Given the description of an element on the screen output the (x, y) to click on. 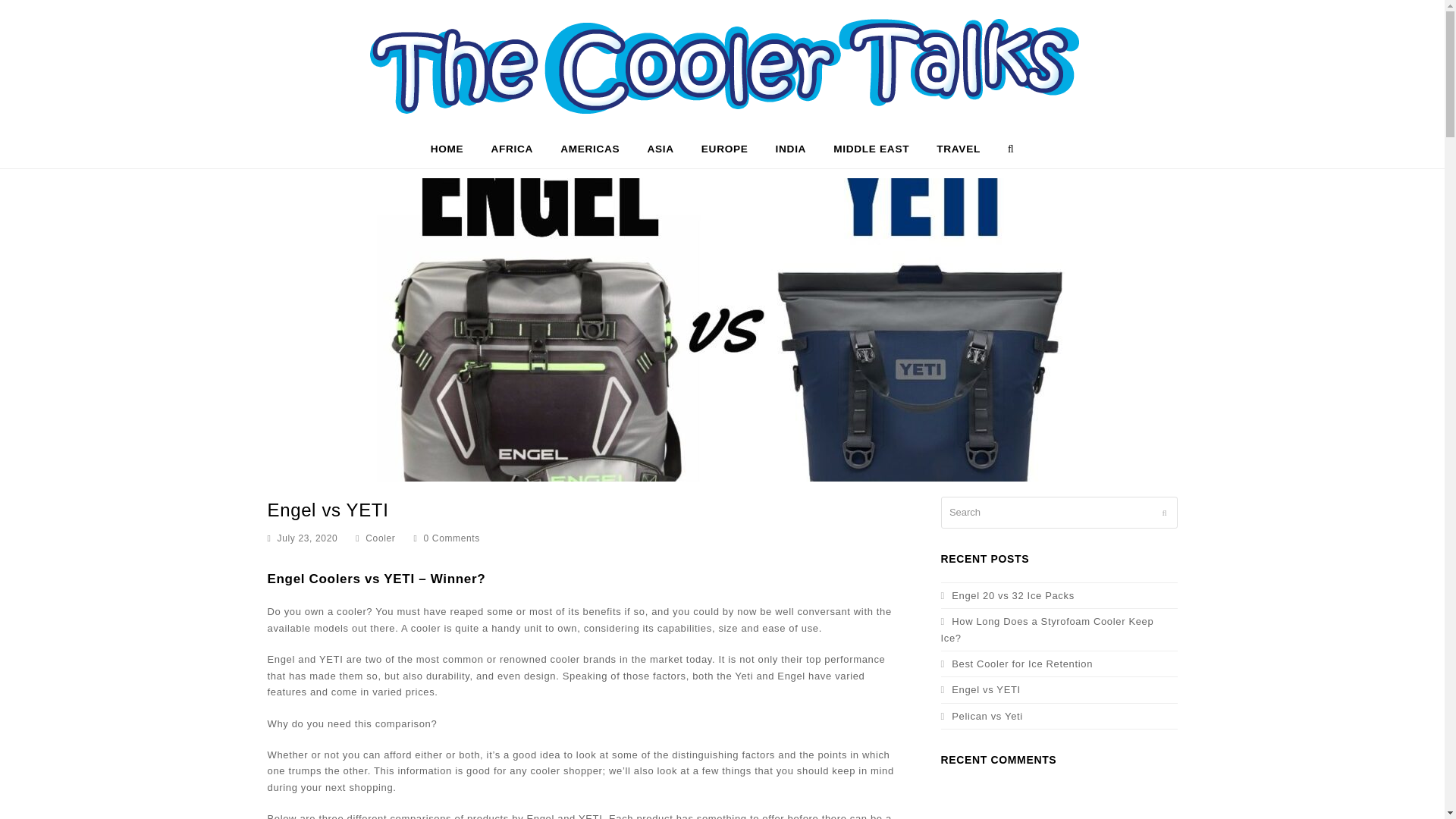
Cooler (379, 538)
Engel 20 vs 32 Ice Packs (1007, 595)
ASIA (659, 149)
0 Comments (446, 539)
INDIA (790, 149)
TRAVEL (957, 149)
AMERICAS (589, 149)
Engel vs YETI (980, 689)
0 Comments (451, 538)
HOME (447, 149)
EUROPE (724, 149)
AFRICA (511, 149)
MIDDLE EAST (871, 149)
How Long Does a Styrofoam Cooler Keep Ice? (1046, 628)
Best Cooler for Ice Retention (1016, 663)
